Given the description of an element on the screen output the (x, y) to click on. 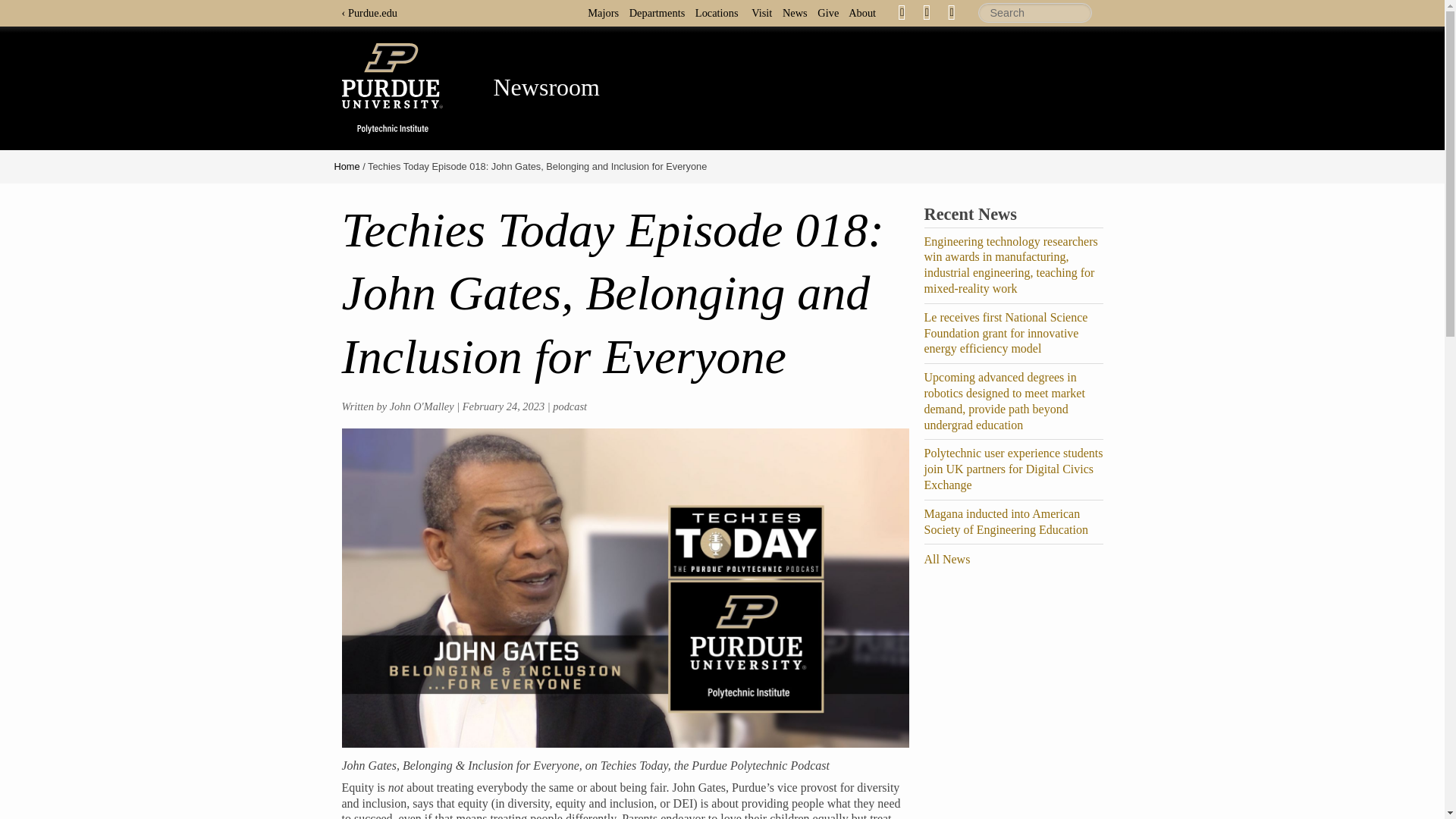
Majors (607, 12)
News (799, 12)
instagram link (951, 12)
Search (1035, 12)
Search (1035, 12)
Link to instagram (951, 10)
About (865, 12)
Link to twitter (926, 10)
Enter the terms you wish to search for. (1035, 12)
Locations (720, 12)
podcast (569, 406)
